Given the description of an element on the screen output the (x, y) to click on. 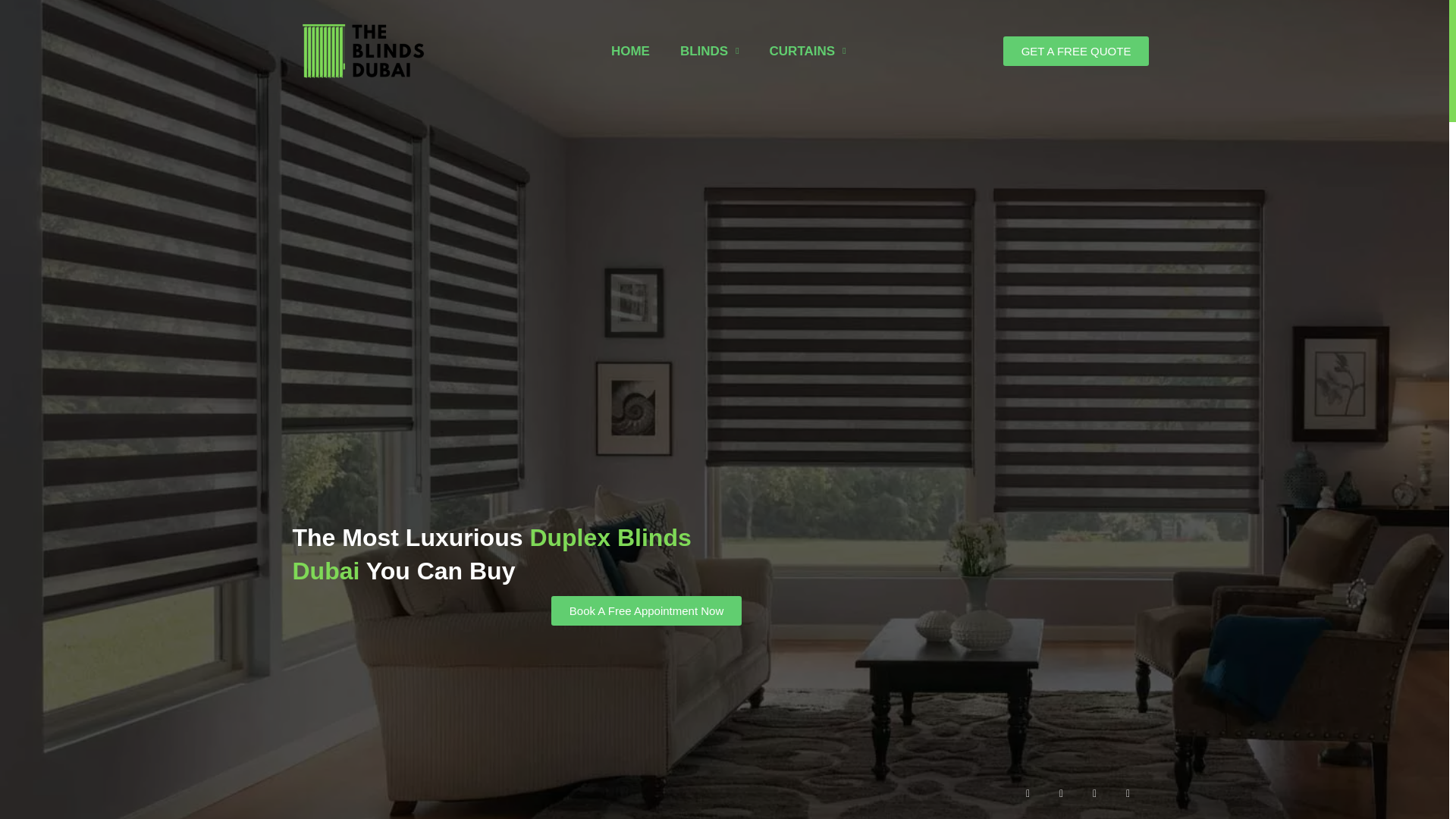
CURTAINS (807, 46)
BLINDS (709, 37)
GET A FREE QUOTE (1076, 51)
HOME (630, 37)
